Given the description of an element on the screen output the (x, y) to click on. 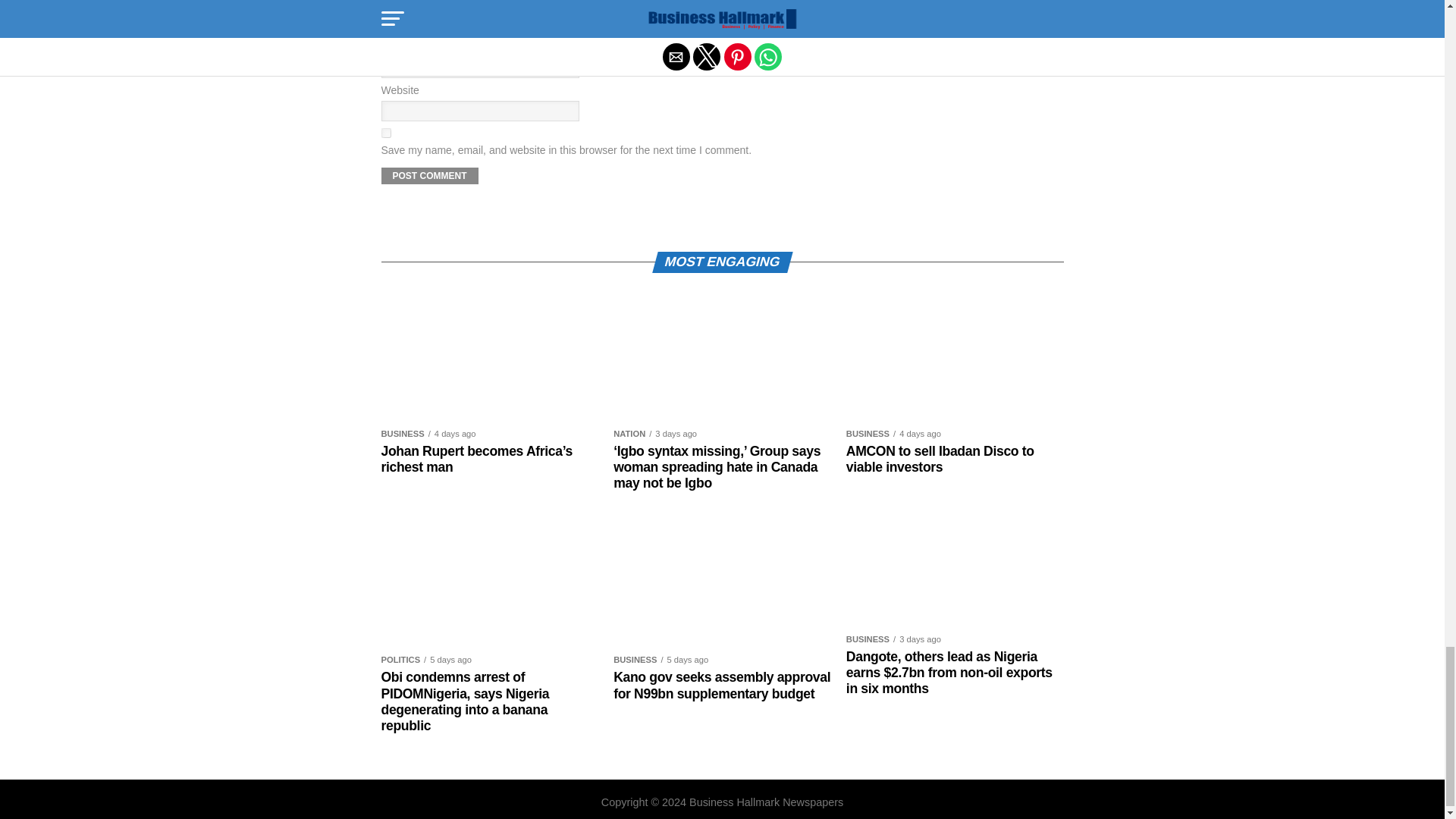
Post Comment (428, 175)
yes (385, 132)
Post Comment (428, 175)
